Given the description of an element on the screen output the (x, y) to click on. 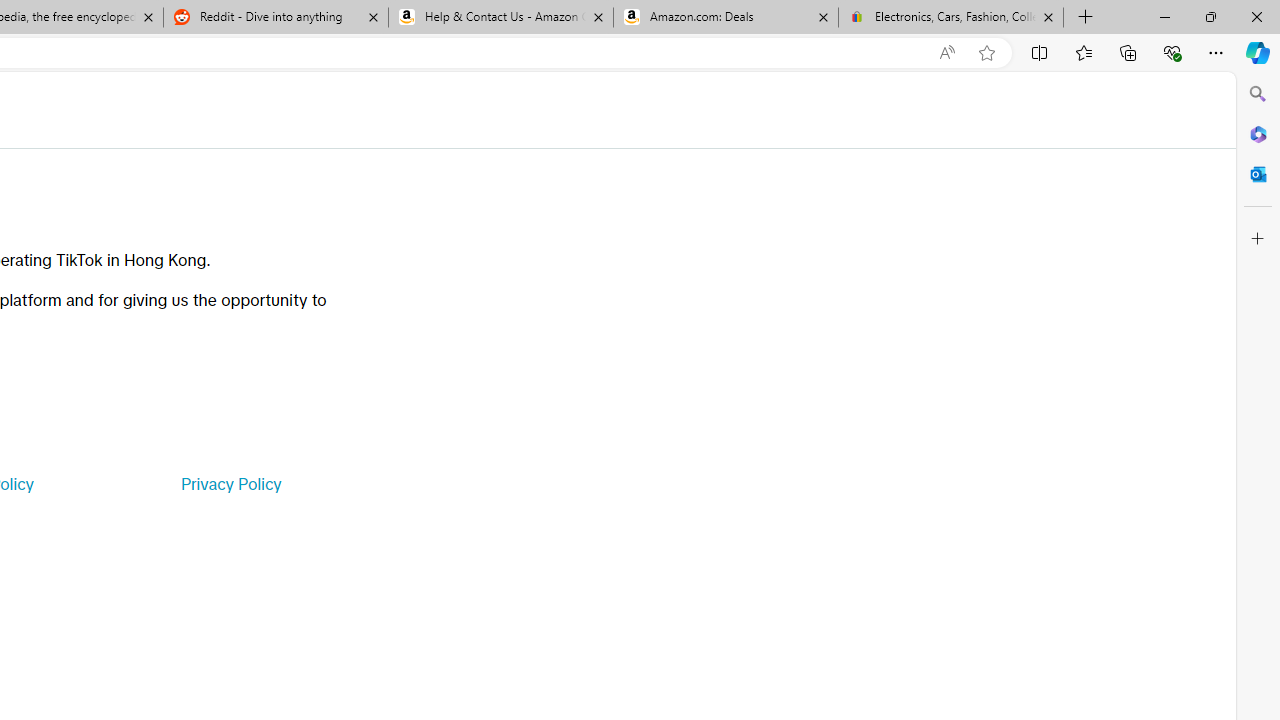
Help & Contact Us - Amazon Customer Service (501, 17)
Amazon.com: Deals (726, 17)
